Given the description of an element on the screen output the (x, y) to click on. 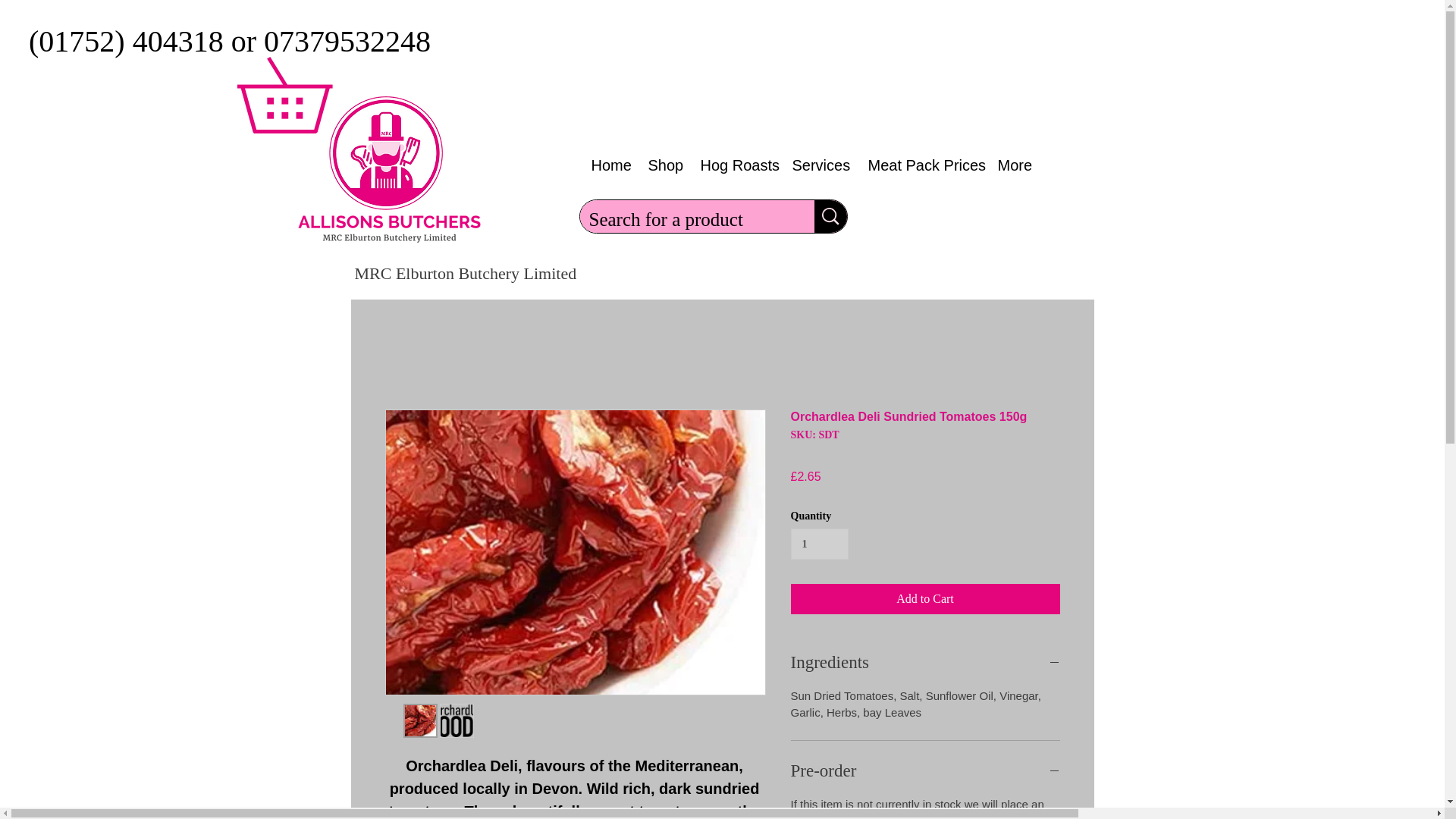
Services (818, 165)
Hog Roasts (734, 165)
1 (818, 543)
Pre-order (924, 770)
Add to Cart (924, 598)
Home (607, 165)
Ingredients (924, 662)
Meat Pack Prices (922, 165)
